Given the description of an element on the screen output the (x, y) to click on. 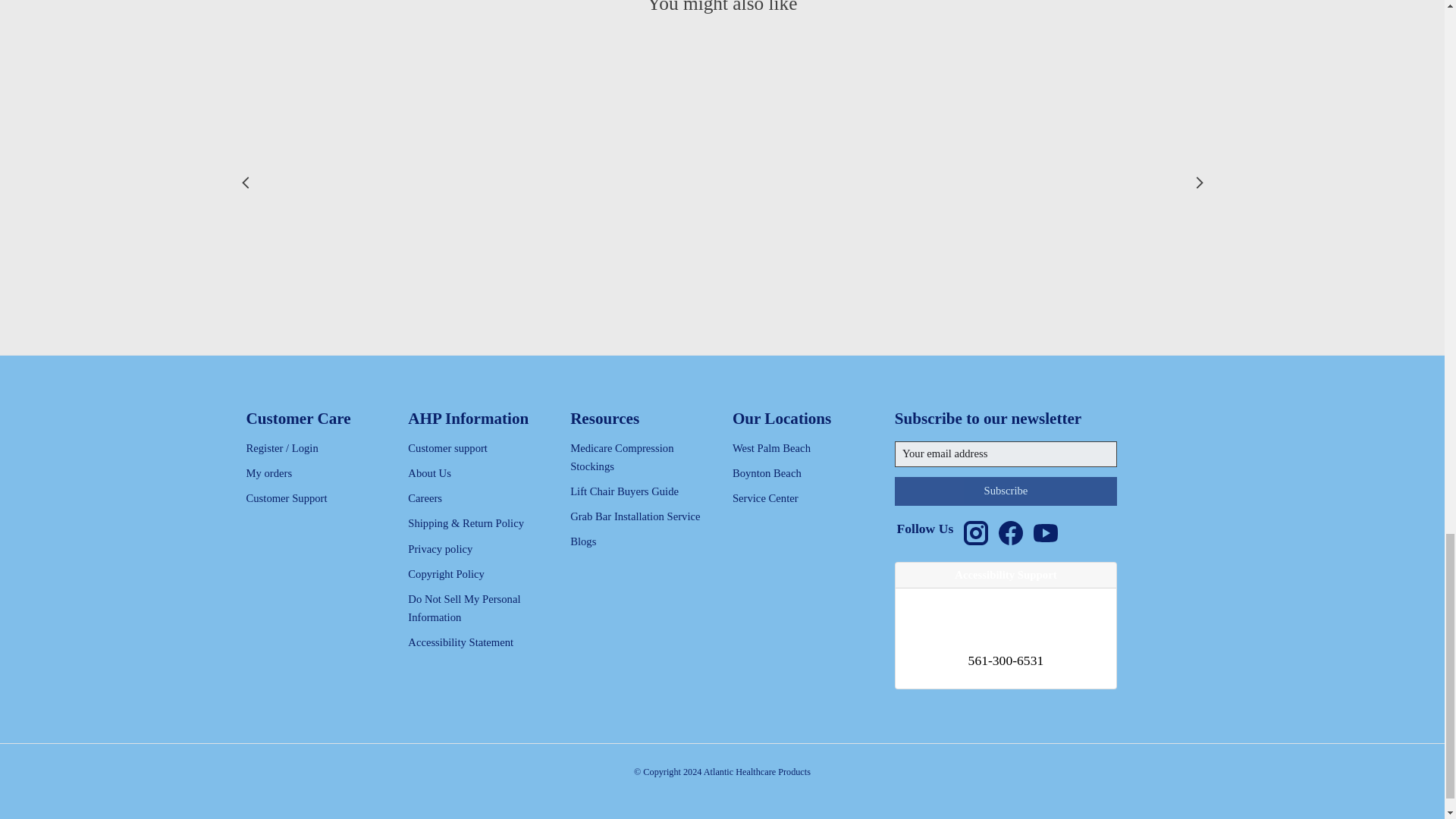
Customer support (447, 448)
Copyright Policy (445, 573)
Careers (424, 498)
Privacy policy (439, 548)
About Us (429, 472)
My orders (269, 472)
